Given the description of an element on the screen output the (x, y) to click on. 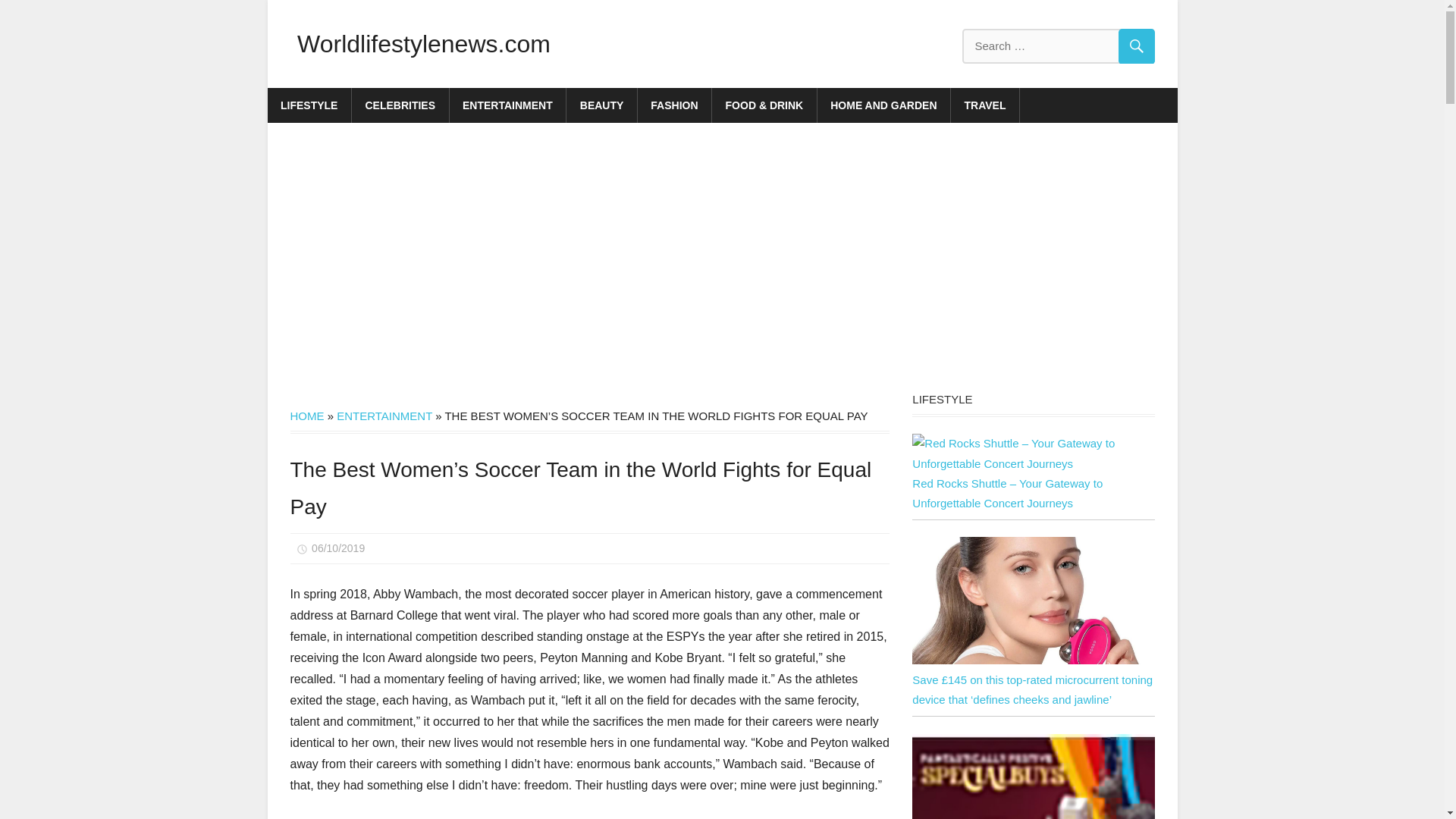
CELEBRITIES (400, 104)
Worldlifestylenews.com (423, 43)
Search for: (1057, 46)
ENTERTAINMENT (384, 415)
LIFESTYLE (308, 104)
BEAUTY (601, 104)
FASHION (674, 104)
HOME (306, 415)
ENTERTAINMENT (508, 104)
TRAVEL (985, 104)
